Given the description of an element on the screen output the (x, y) to click on. 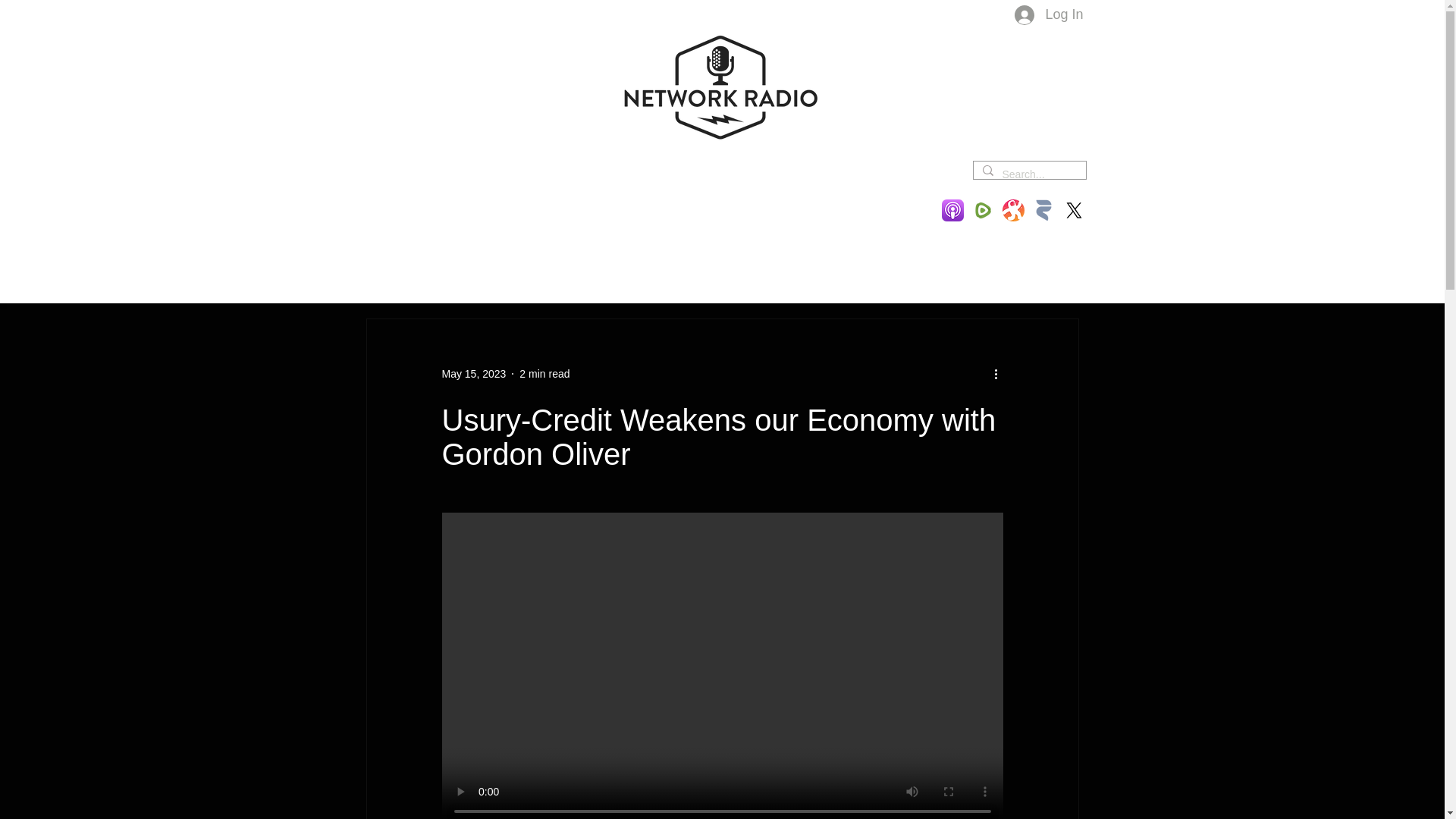
2 min read (544, 372)
May 15, 2023 (473, 372)
Log In (1048, 14)
